Given the description of an element on the screen output the (x, y) to click on. 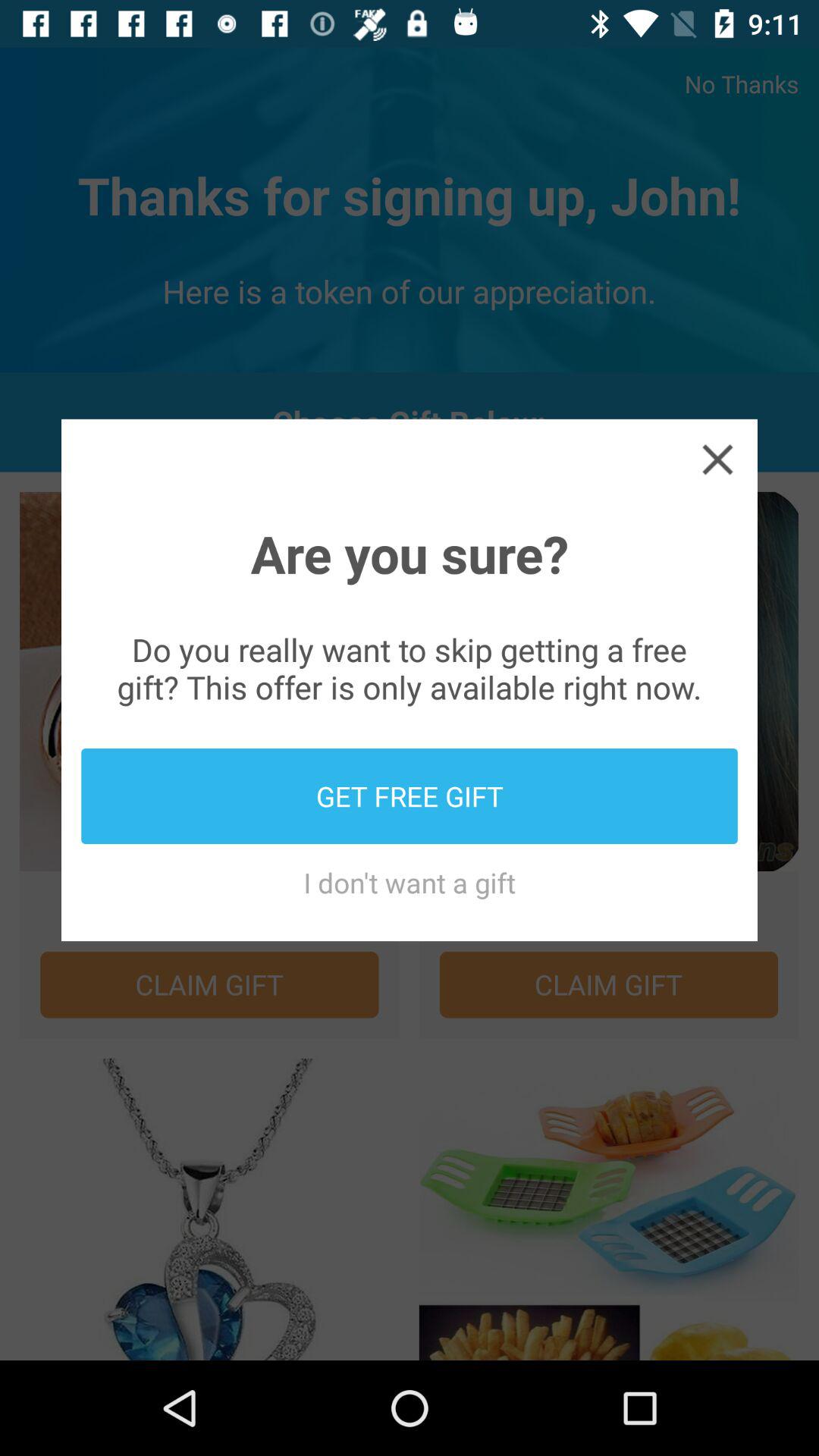
click the cross mark (717, 458)
